Given the description of an element on the screen output the (x, y) to click on. 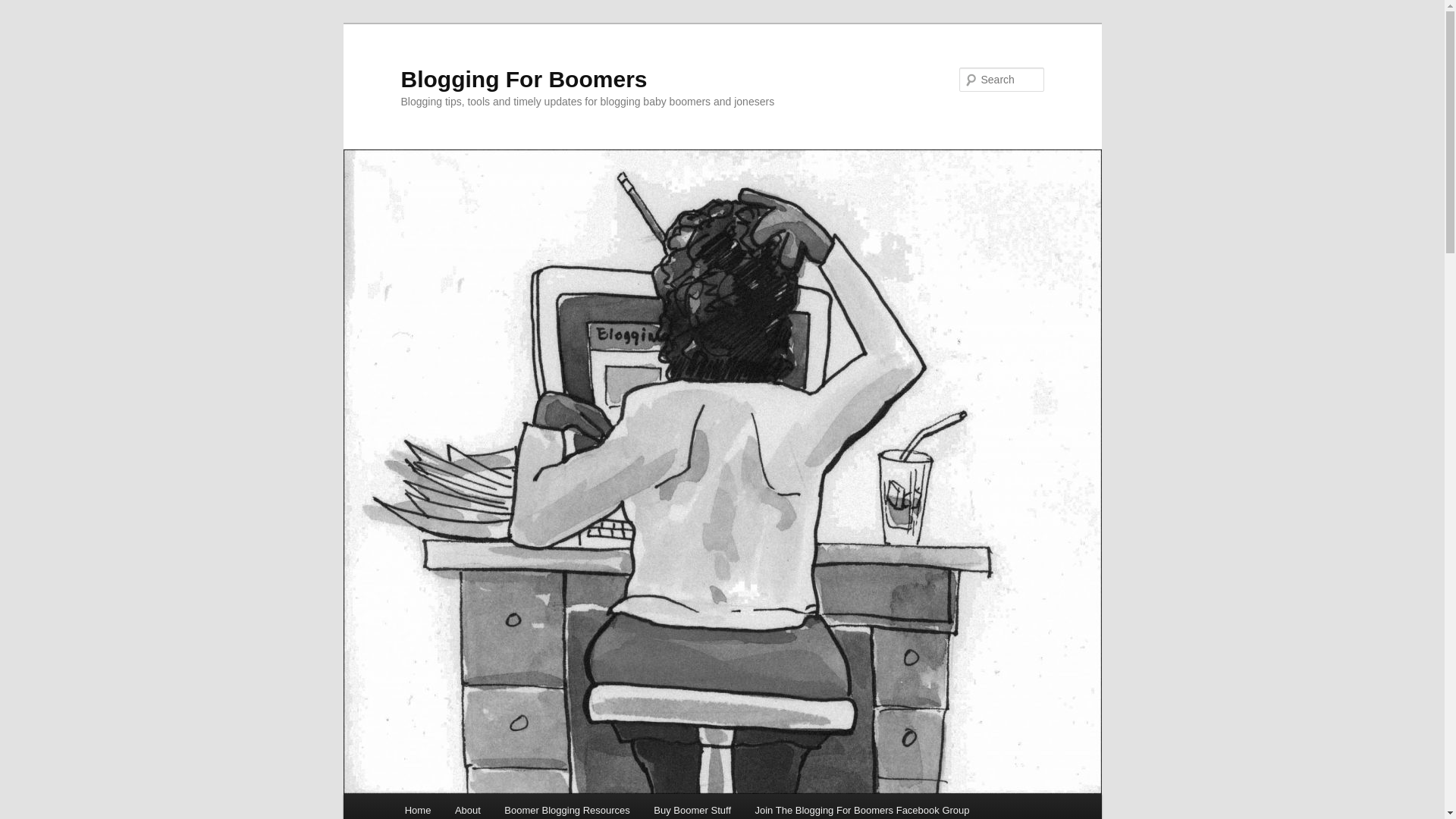
Boomer Blogging Resources (567, 806)
Buy Boomer Stuff (692, 806)
Join The Blogging For Boomers Facebook Group (861, 806)
Blogging For Boomers (523, 78)
Search (24, 8)
About (467, 806)
Home (417, 806)
